Given the description of an element on the screen output the (x, y) to click on. 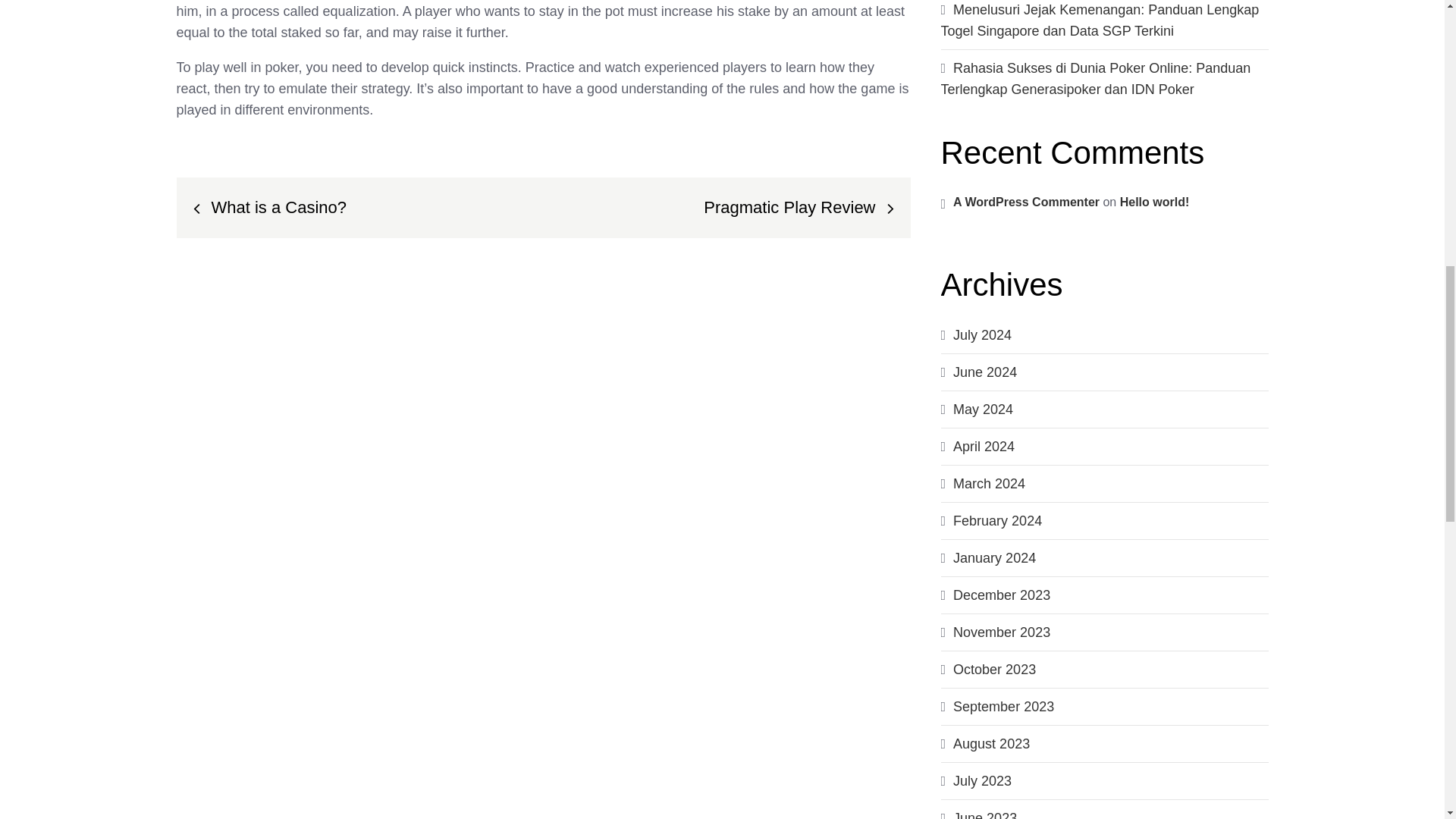
January 2024 (994, 557)
September 2023 (1003, 706)
A WordPress Commenter (1026, 201)
July 2024 (982, 335)
February 2024 (997, 520)
May 2024 (983, 409)
July 2023 (982, 780)
April 2024 (983, 446)
June 2023 (984, 814)
August 2023 (991, 743)
March 2024 (989, 483)
November 2023 (1001, 631)
December 2023 (1001, 595)
